Given the description of an element on the screen output the (x, y) to click on. 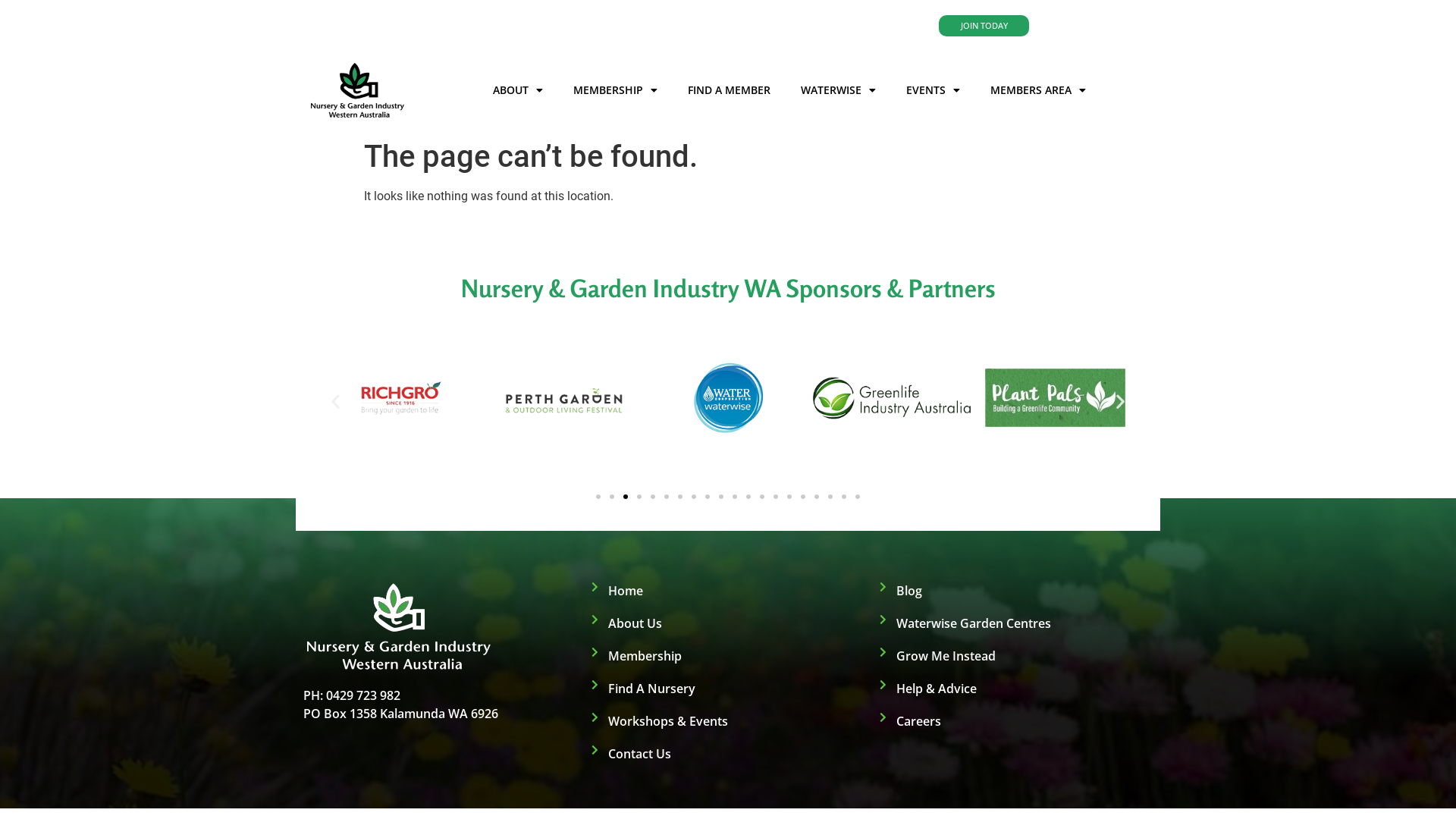
Grow Me Instead Element type: text (1015, 655)
WATERWISE Element type: text (838, 89)
FIND A MEMBER Element type: text (728, 89)
Contact Us Element type: text (727, 753)
Membership Element type: text (727, 655)
ABOUT Element type: text (517, 89)
Find A Nursery Element type: text (727, 688)
Blog Element type: text (1015, 590)
Help & Advice Element type: text (1015, 688)
Workshops & Events Element type: text (727, 721)
EVENTS Element type: text (933, 89)
About Us Element type: text (727, 623)
Waterwise Garden Centres Element type: text (1015, 623)
MEMBERSHIP Element type: text (615, 89)
Home Element type: text (727, 590)
MEMBERS AREA Element type: text (1038, 89)
Careers Element type: text (1015, 721)
JOIN TODAY Element type: text (983, 25)
